Given the description of an element on the screen output the (x, y) to click on. 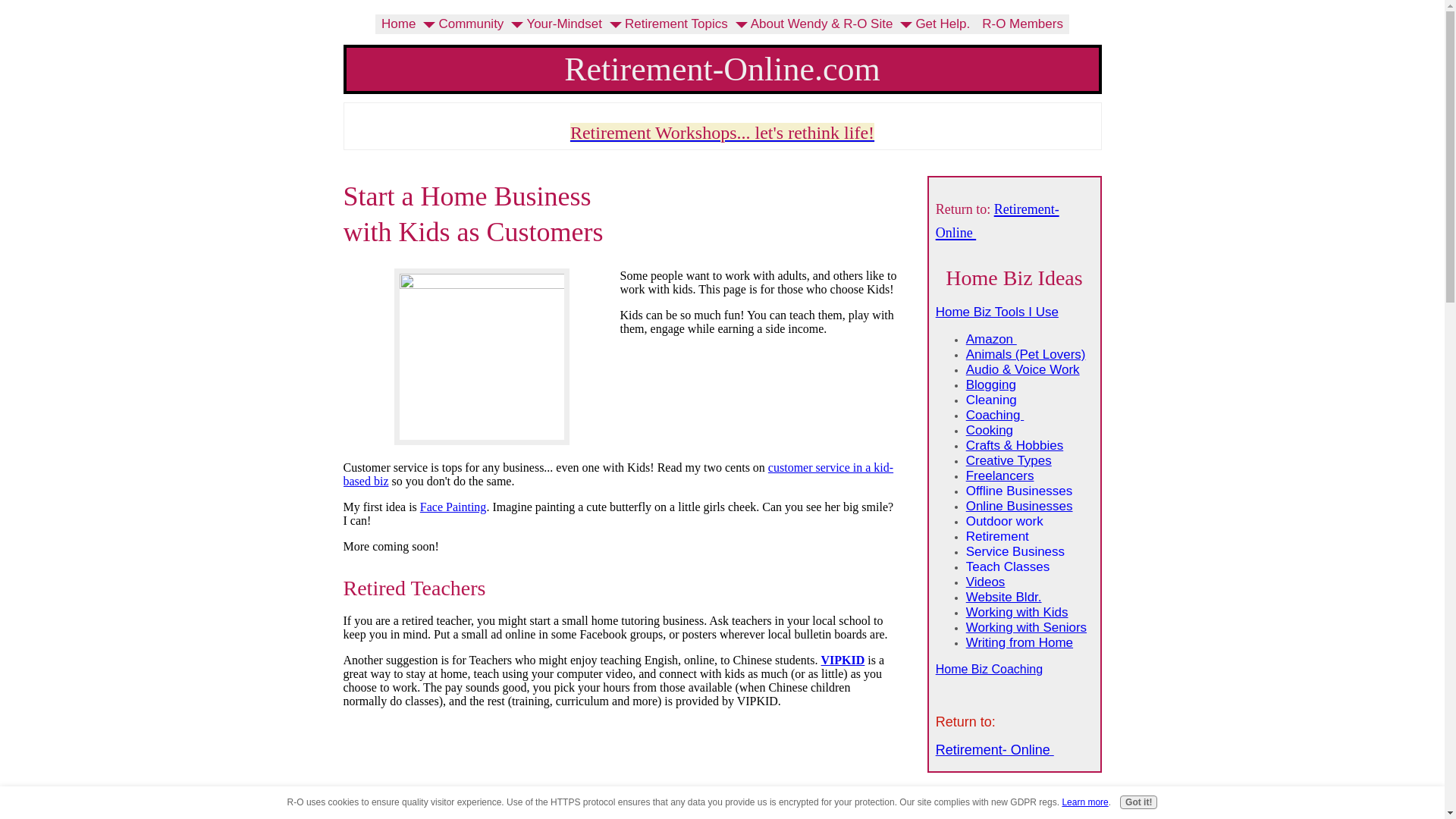
Home (398, 24)
Retirement-Online.com (722, 68)
